Given the description of an element on the screen output the (x, y) to click on. 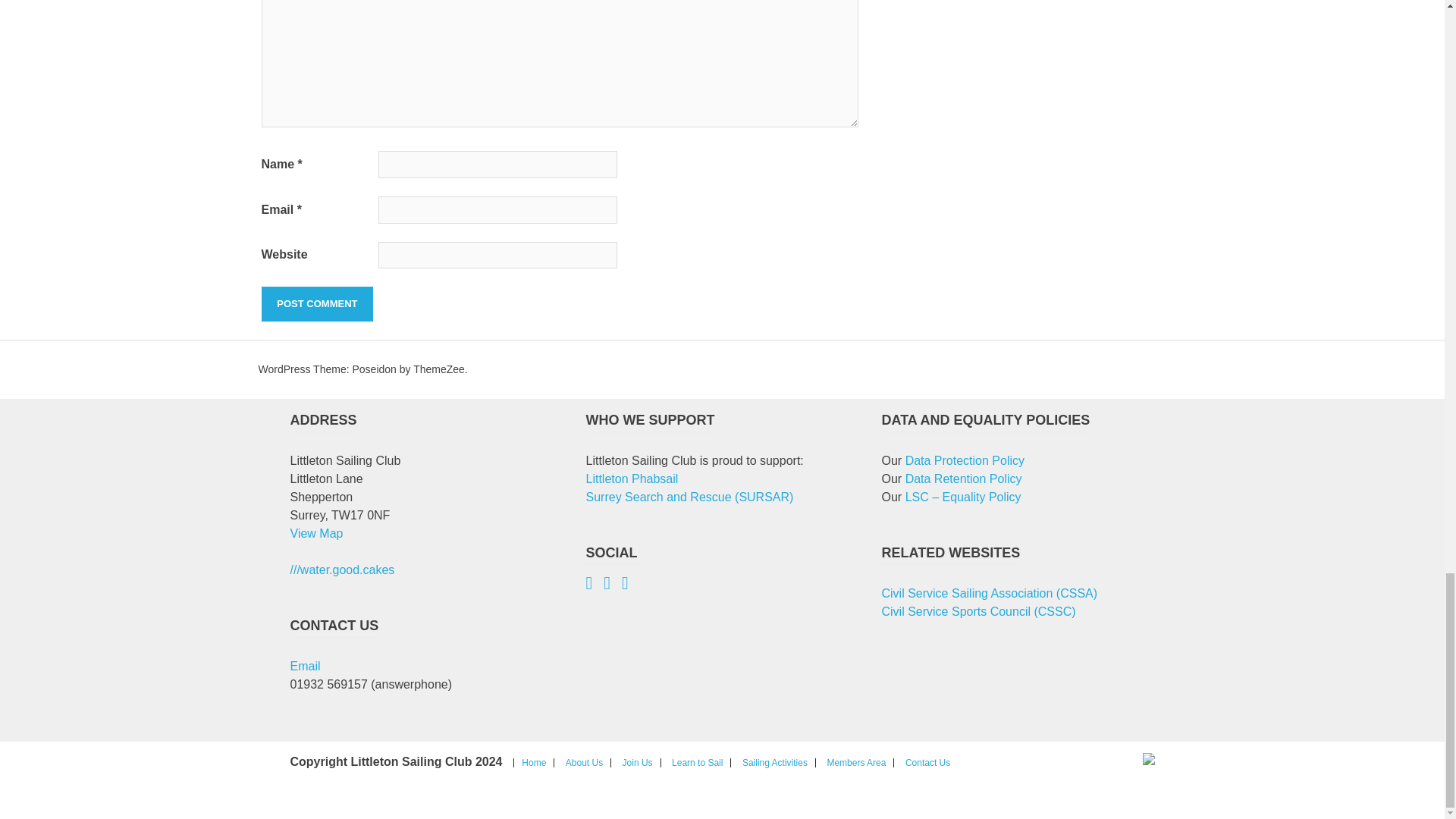
instagram (612, 584)
facebook (594, 584)
Post Comment (316, 303)
